Given the description of an element on the screen output the (x, y) to click on. 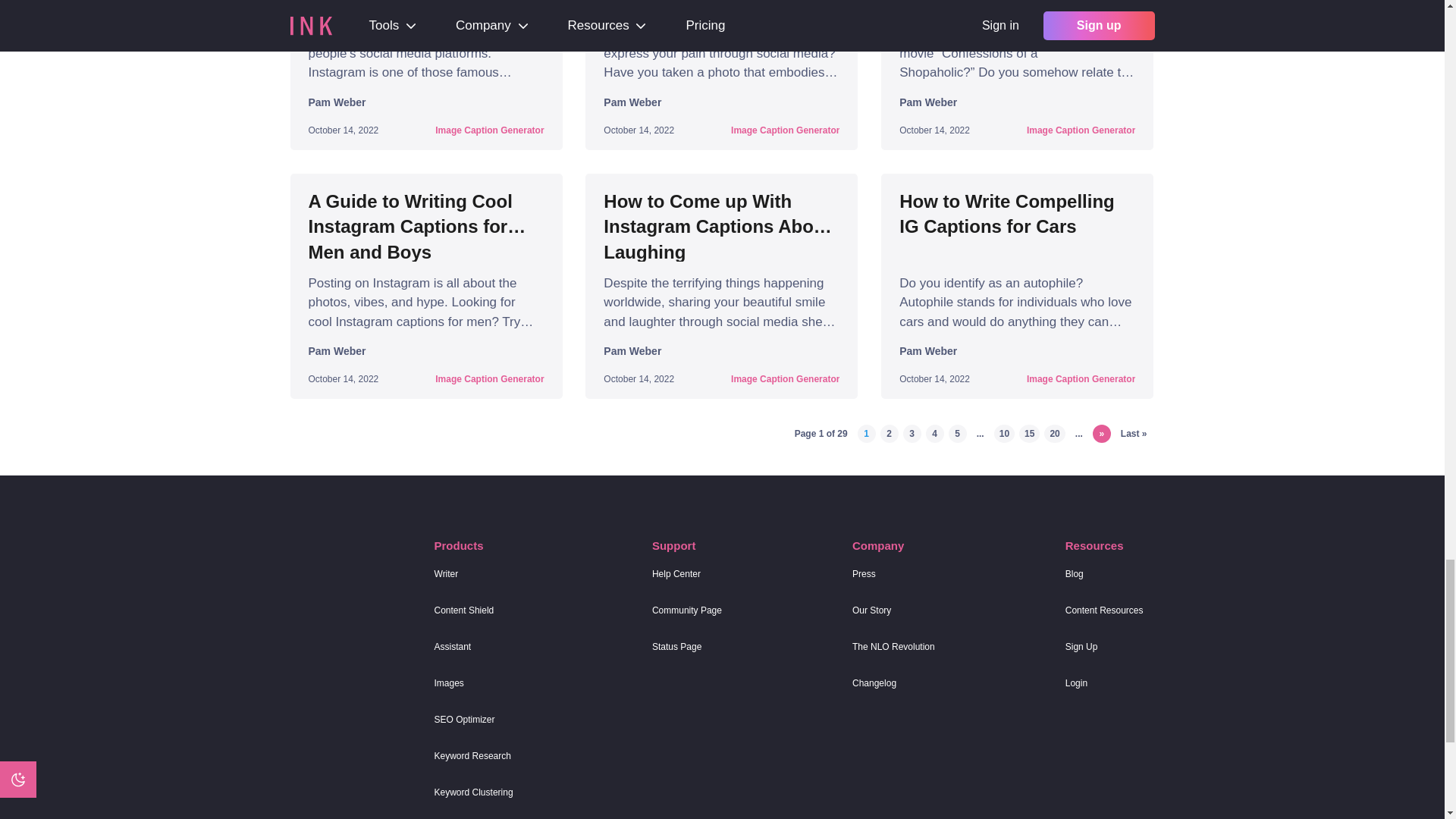
Page 20 (1053, 434)
Page 2 (889, 434)
Page 4 (934, 434)
Page 10 (1004, 434)
Page 3 (911, 434)
Page 15 (1029, 434)
Page 5 (957, 434)
